Given the description of an element on the screen output the (x, y) to click on. 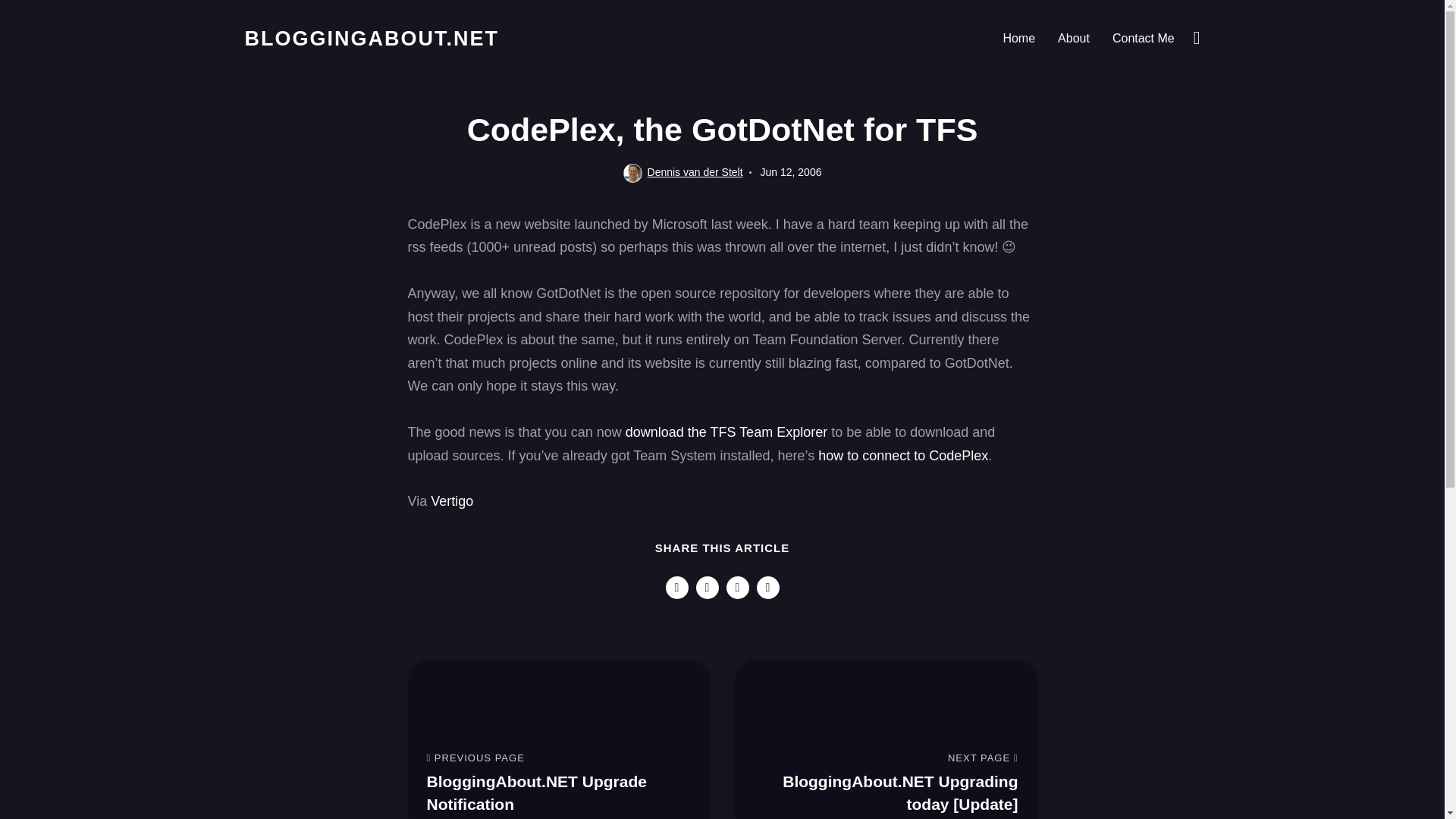
Vertigo (451, 513)
Home (1019, 38)
Share on Twitter (707, 587)
Share on Pinterest (767, 587)
About (558, 742)
Share on LinkedIn (1073, 38)
how to connect to CodePlex (737, 587)
Share on Facebook (903, 469)
download the TFS Team Explorer (676, 587)
Contact Me (726, 447)
BLOGGINGABOUT.NET (1143, 38)
Dennis van der Stelt (371, 38)
